Given the description of an element on the screen output the (x, y) to click on. 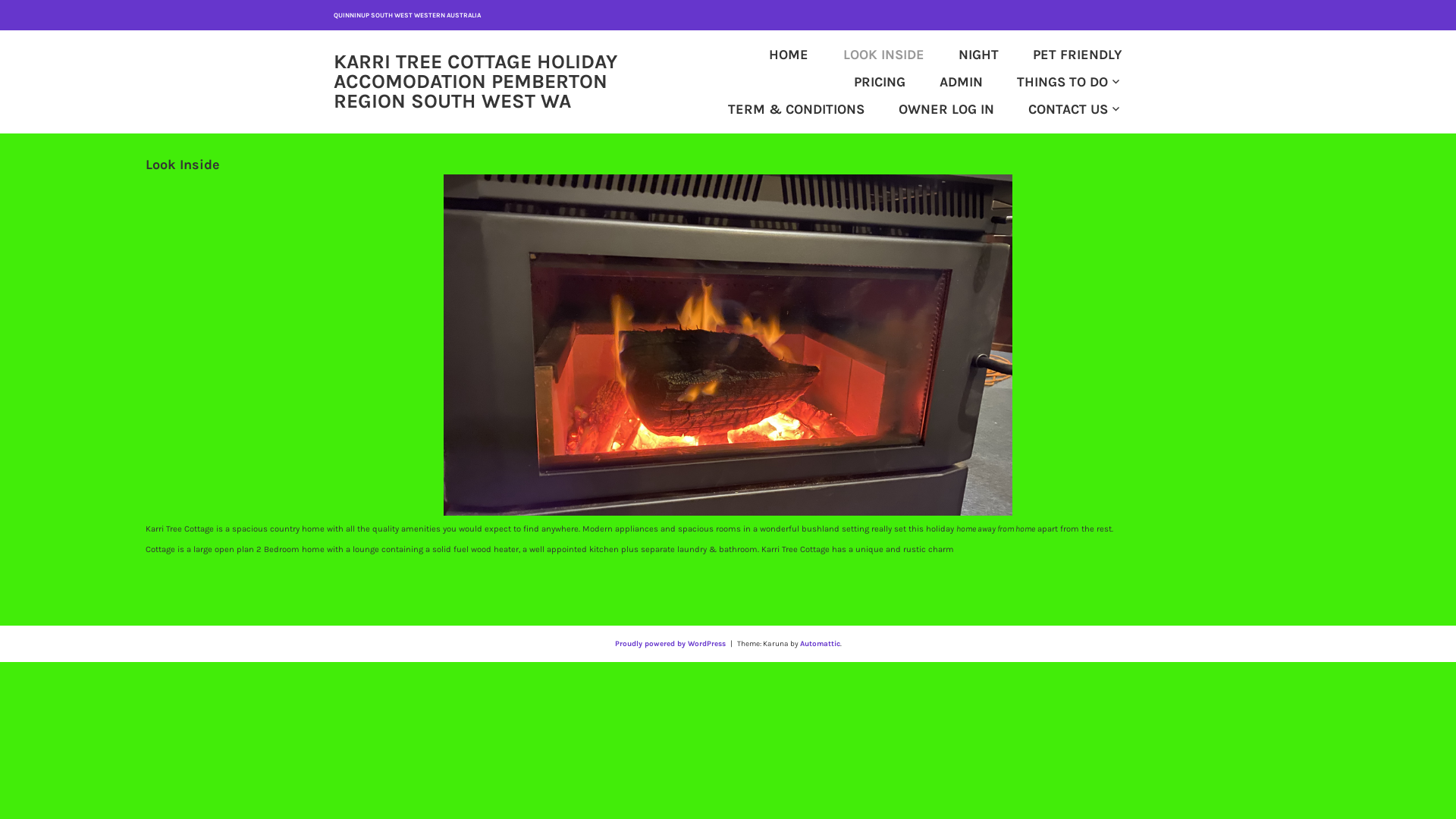
ADMIN Element type: text (944, 81)
PRICING Element type: text (862, 81)
Skip to content Element type: text (0, 0)
PET FRIENDLY Element type: text (1061, 54)
TERM & CONDITIONS Element type: text (778, 108)
LOOK INSIDE Element type: text (866, 54)
Proudly powered by WordPress Element type: text (669, 643)
CONTACT US Element type: text (1058, 108)
THINGS TO DO Element type: text (1053, 81)
Automattic Element type: text (819, 643)
OWNER LOG IN Element type: text (930, 108)
NIGHT Element type: text (961, 54)
HOME Element type: text (772, 54)
